Given the description of an element on the screen output the (x, y) to click on. 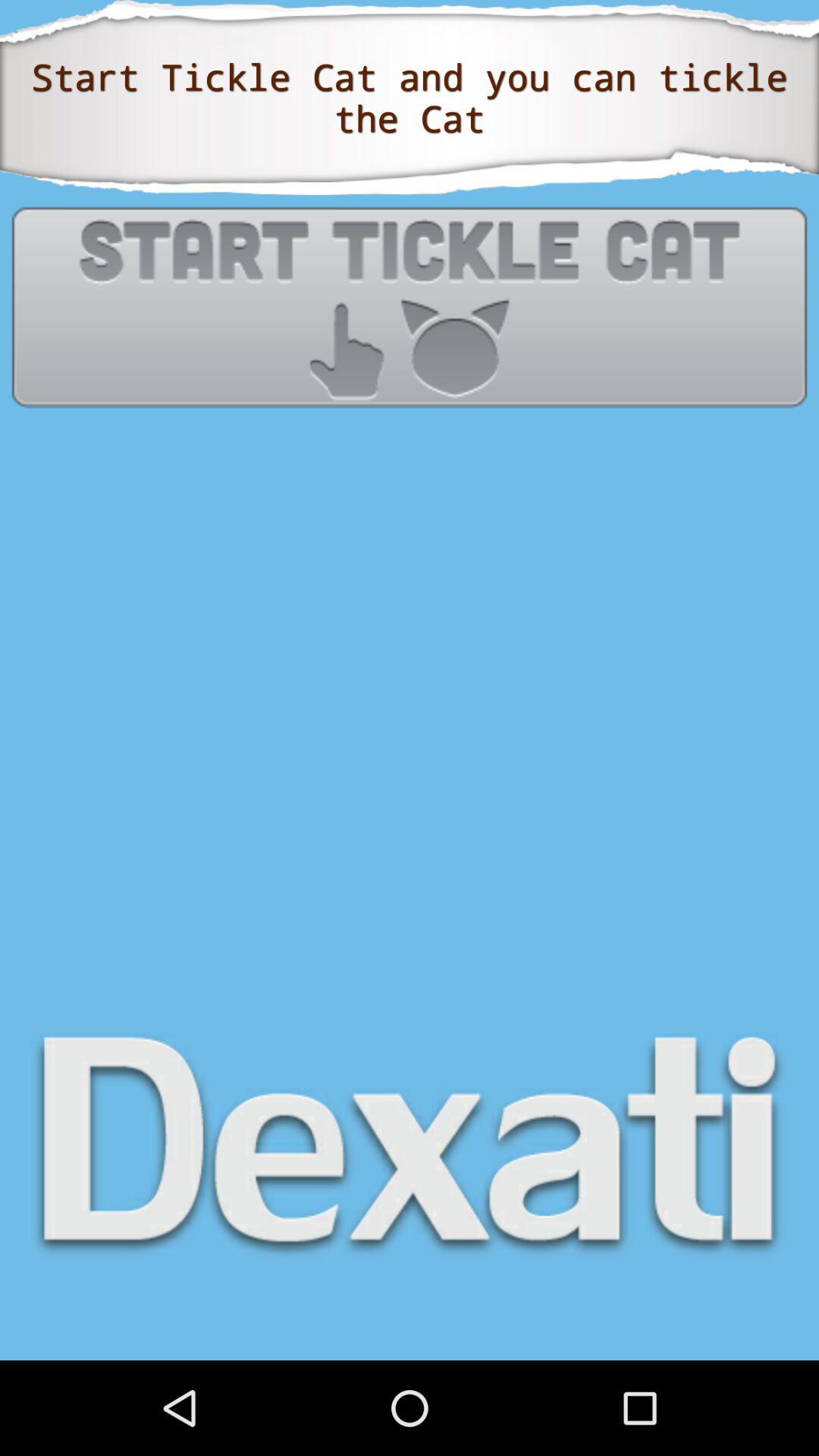
start (409, 306)
